Given the description of an element on the screen output the (x, y) to click on. 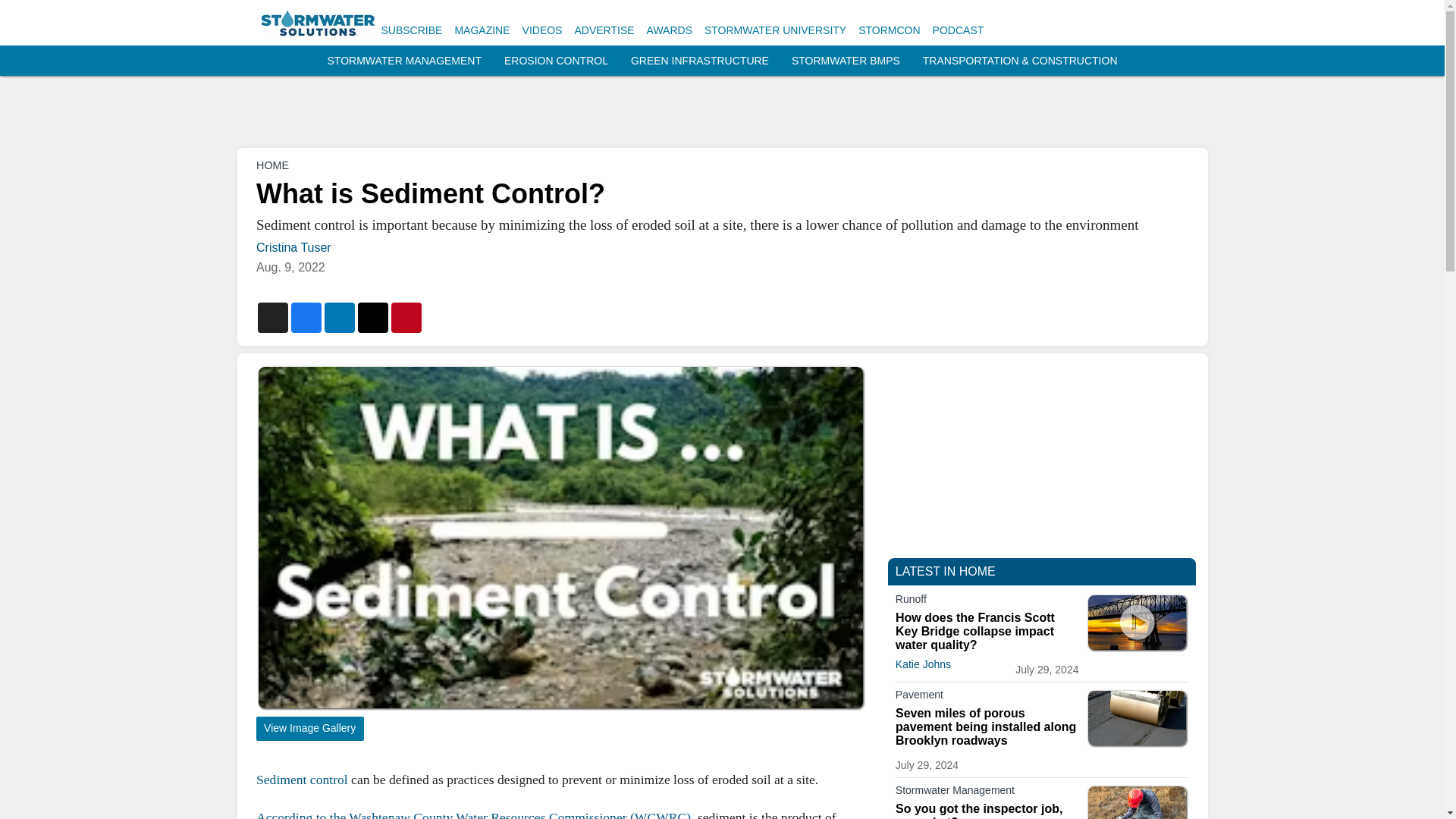
STORMWATER UNIVERSITY (774, 30)
LATEST IN HOME (945, 571)
AWARDS (669, 30)
Runoff (986, 601)
PODCAST (958, 30)
STORMCON (889, 30)
Cristina Tuser (293, 246)
GREEN INFRASTRUCTURE (699, 60)
SUBSCRIBE (411, 30)
ADVERTISE (603, 30)
